Given the description of an element on the screen output the (x, y) to click on. 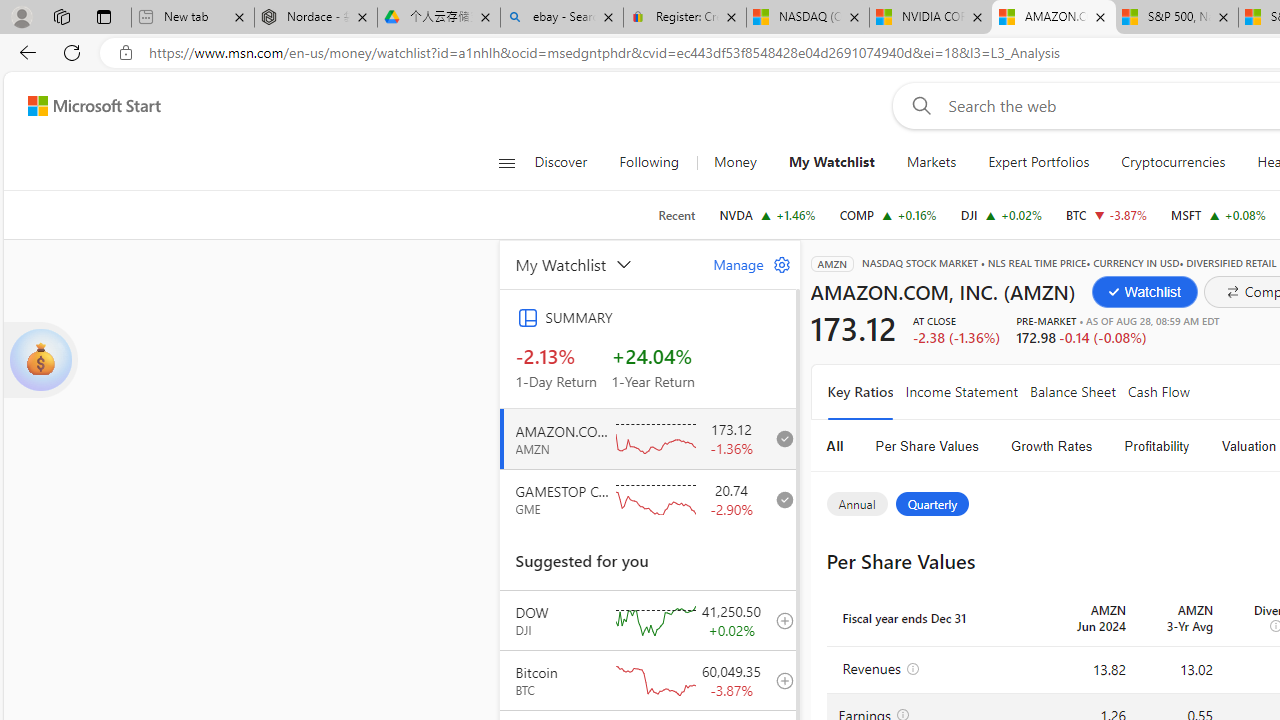
Expert Portfolios (1039, 162)
Income Statement (960, 391)
Microsoft Start (94, 105)
Per Share Values (927, 445)
Money (735, 162)
add to your watchlist (779, 680)
Discover (560, 162)
NVDA NVIDIA CORPORATION increase 128.30 +1.84 +1.46% (767, 214)
My Watchlist (830, 162)
Annual (856, 503)
Discover (568, 162)
Recent (676, 215)
S&P 500, Nasdaq end lower, weighed by Nvidia dip | Watch (1176, 17)
Expert Portfolios (1038, 162)
